Given the description of an element on the screen output the (x, y) to click on. 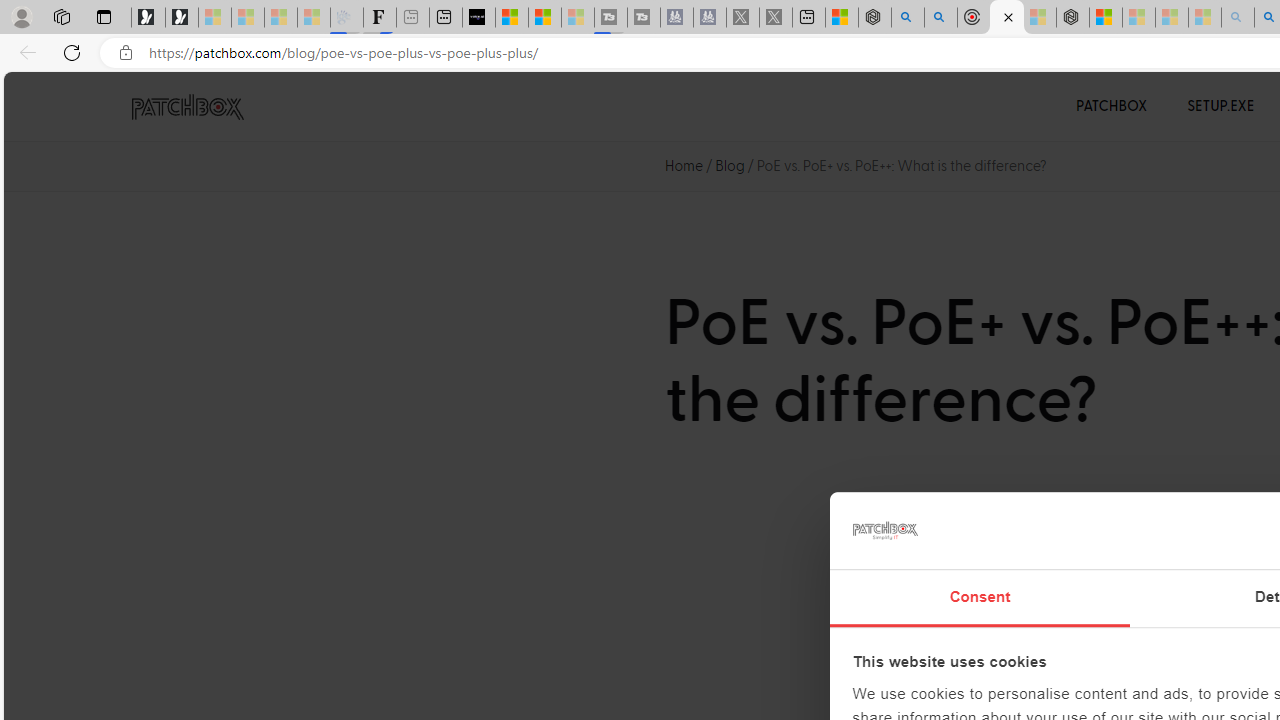
Nordace - Nordace Siena Is Not An Ordinary Backpack (1073, 17)
PATCHBOX Simplify IT (200, 106)
Blog (729, 165)
PATCHBOX (1111, 106)
logo (884, 530)
poe ++ standard - Search (941, 17)
